Given the description of an element on the screen output the (x, y) to click on. 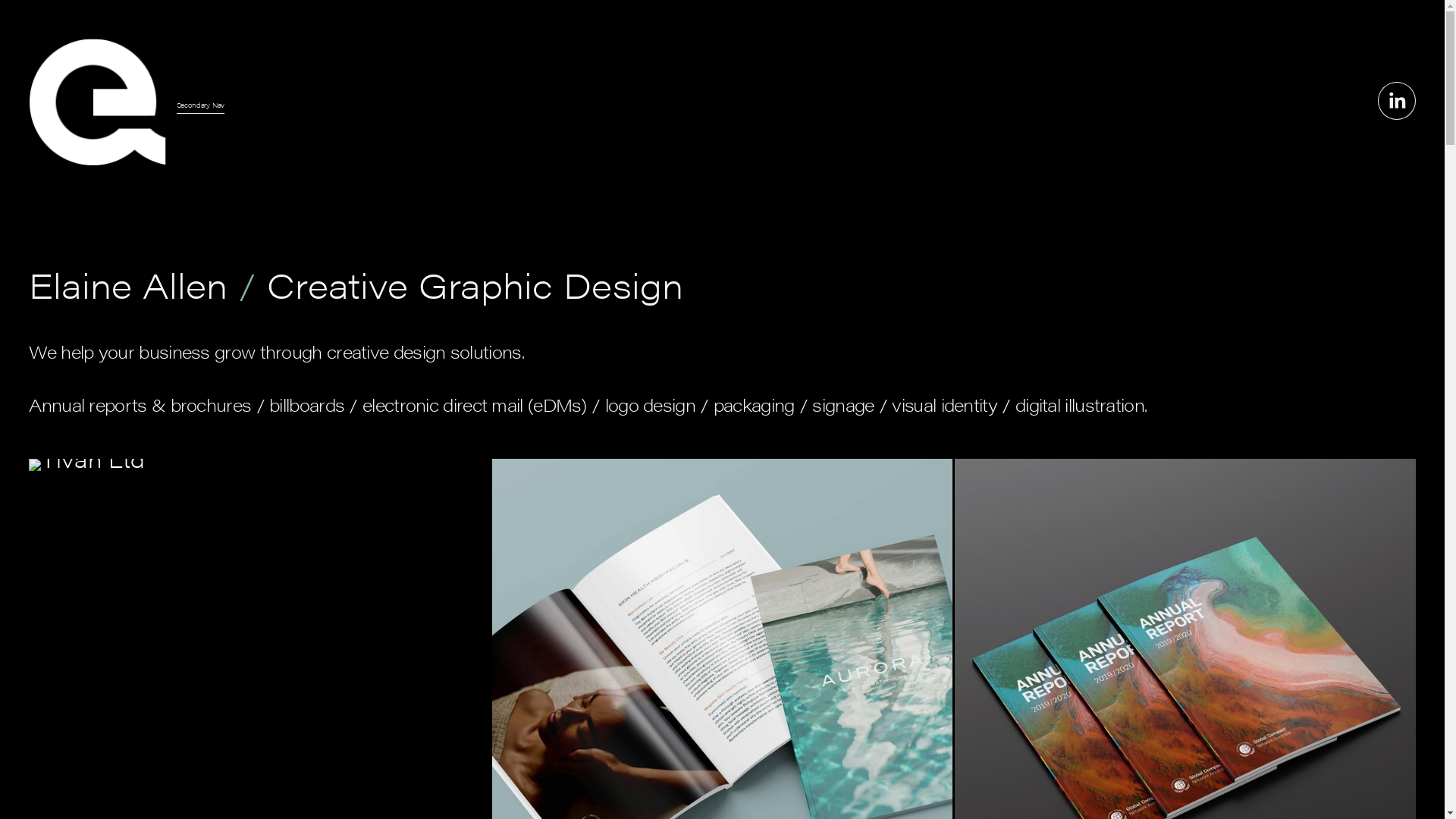
Secondary Nav Element type: text (200, 104)
